Given the description of an element on the screen output the (x, y) to click on. 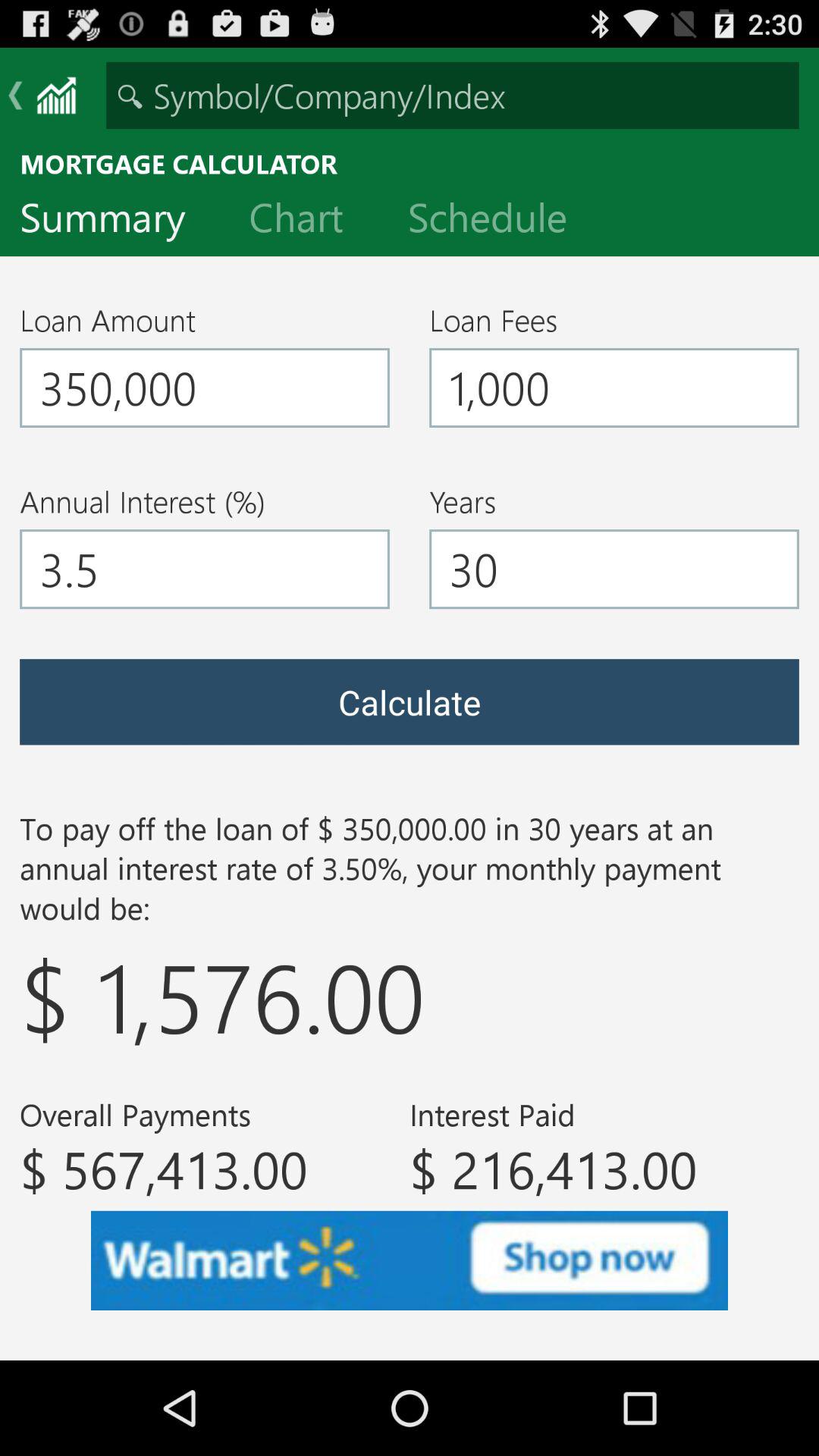
swipe until the calculate (409, 702)
